Given the description of an element on the screen output the (x, y) to click on. 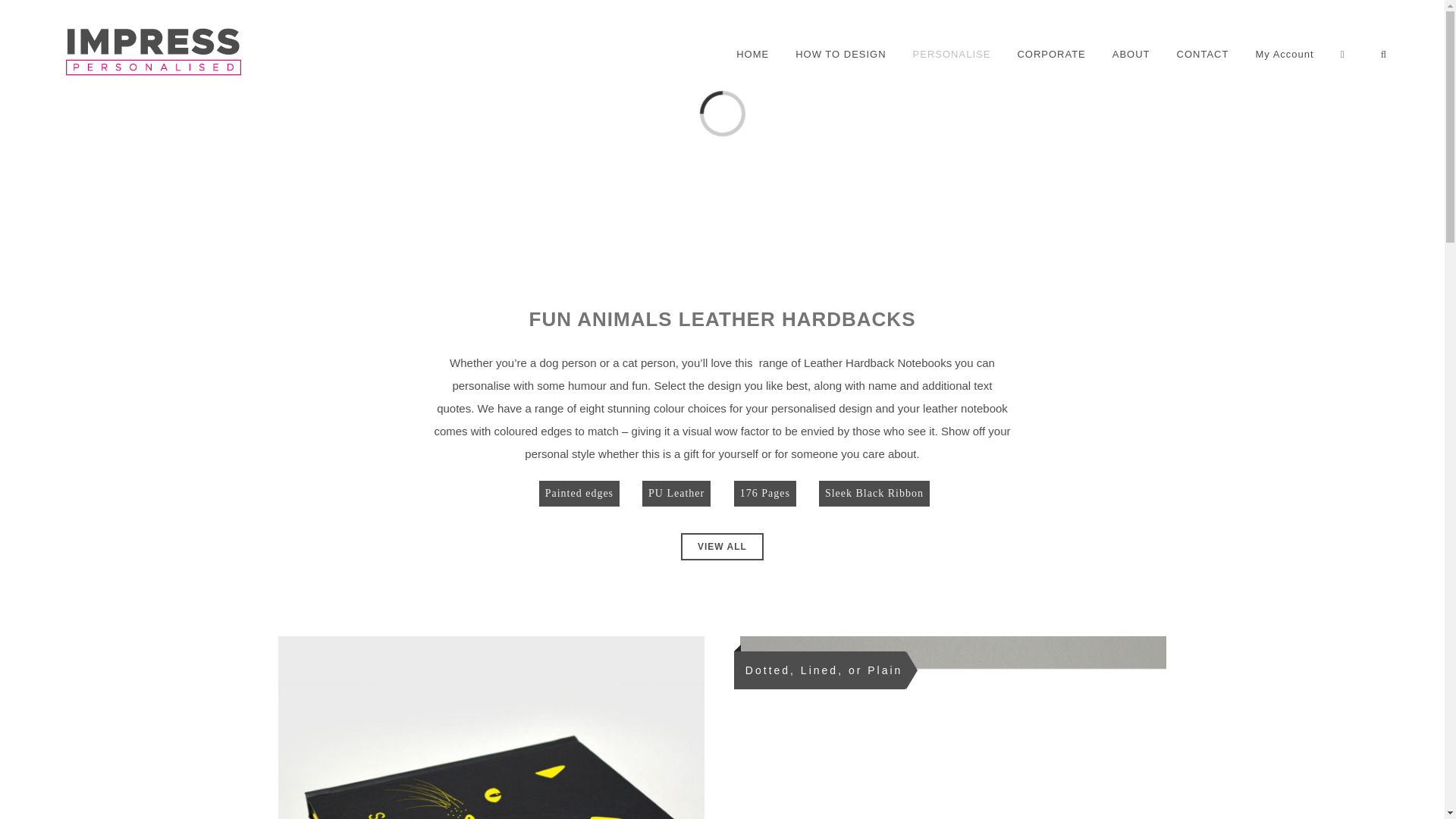
PERSONALISE (951, 54)
CORPORATE (1050, 54)
Paper1 (952, 727)
CATS Square (491, 727)
HOW TO DESIGN (839, 54)
